Given the description of an element on the screen output the (x, y) to click on. 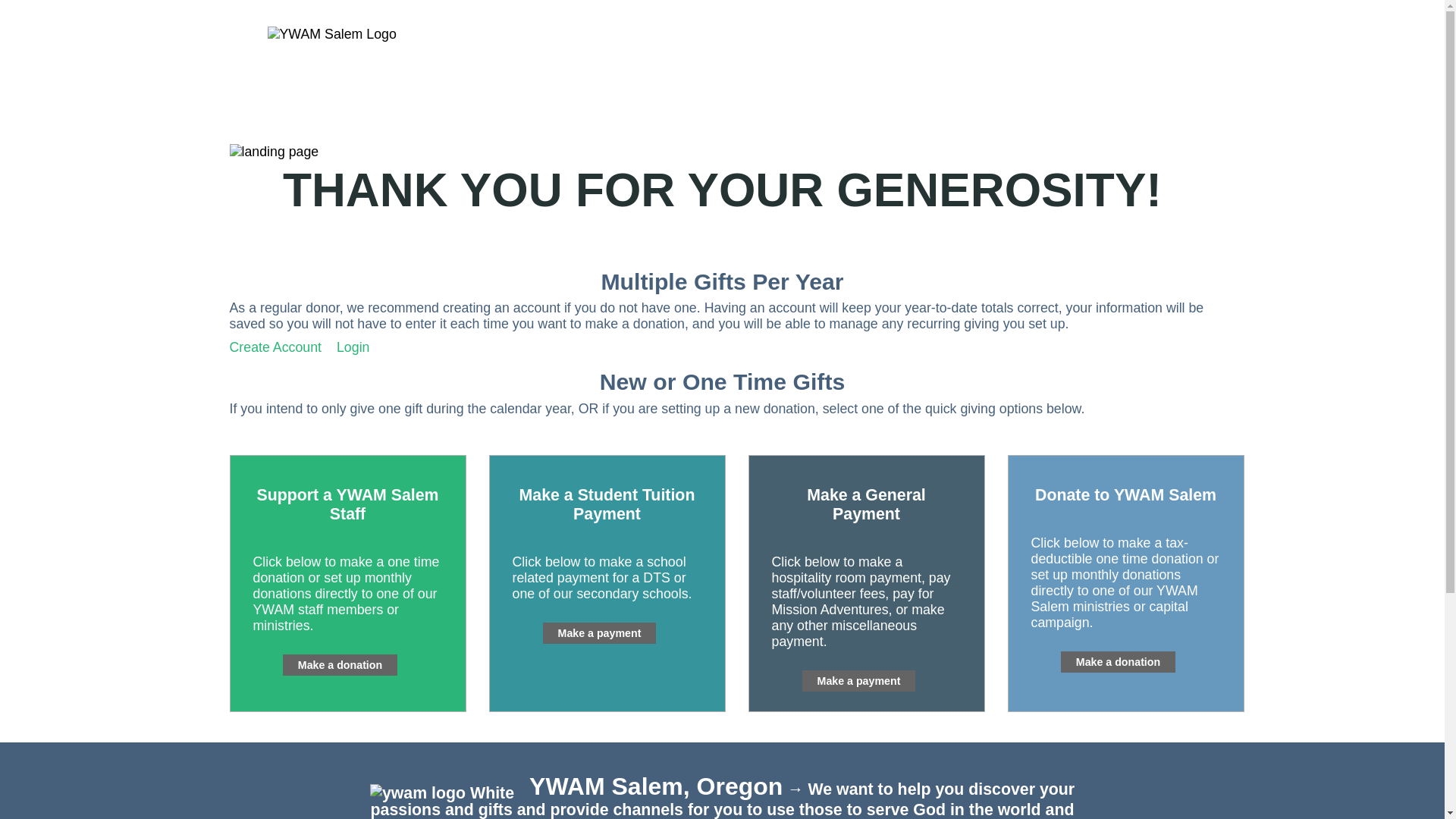
HOME (951, 56)
Make a donation (1117, 661)
landing page (721, 151)
CREATE ACCOUNT (1047, 56)
Make a donation (339, 664)
Make a payment (858, 680)
Create Account (274, 346)
YWAM Salem Logo (331, 34)
ywam logo White (441, 793)
LOGIN (1143, 56)
Login (352, 346)
Make a payment (599, 632)
